Given the description of an element on the screen output the (x, y) to click on. 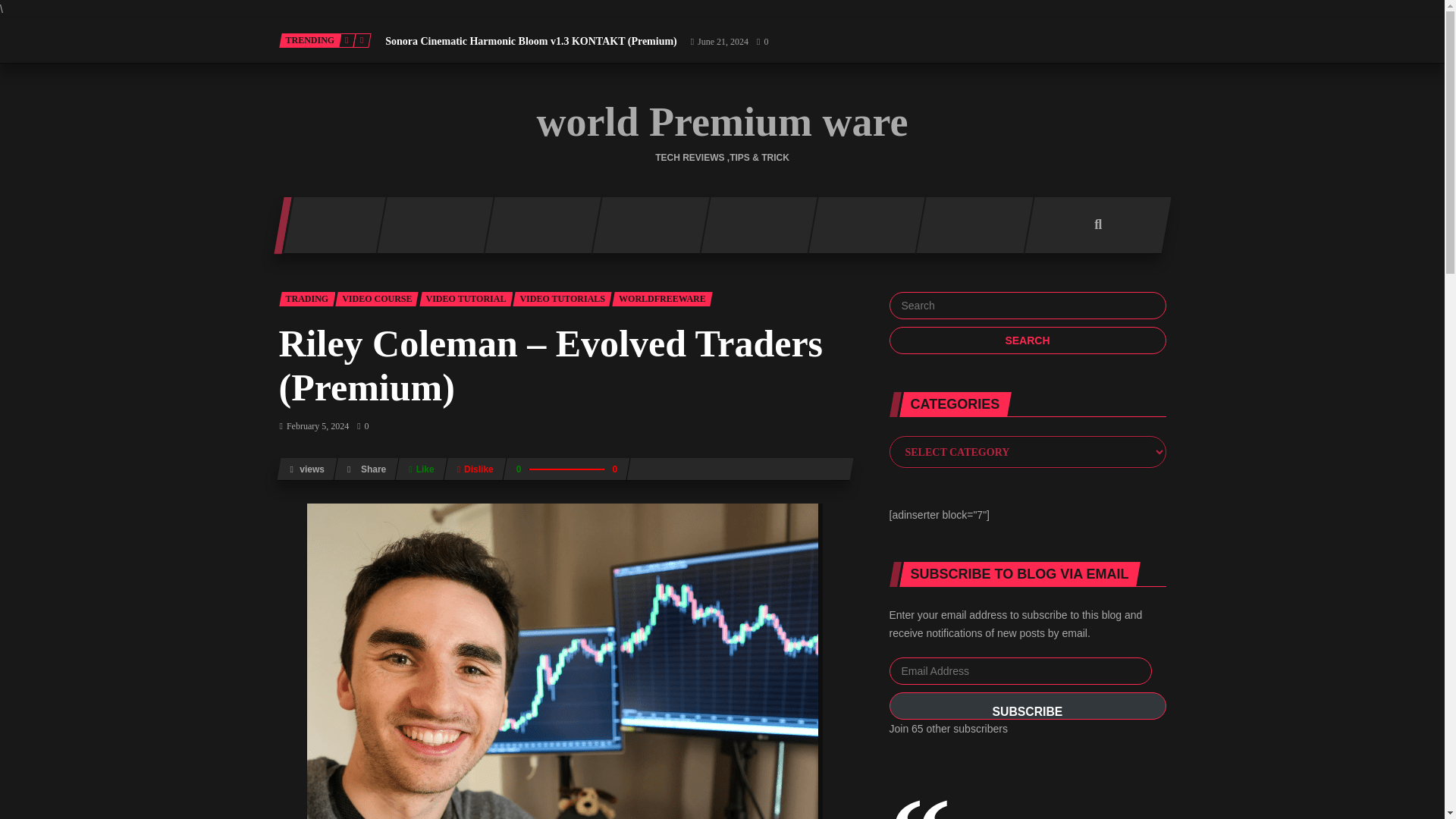
Search (1027, 339)
world Premium ware (722, 121)
Video Course (376, 298)
Trading (307, 298)
TRADING (307, 298)
June 21, 2024 (719, 41)
0 (761, 41)
0 (362, 425)
VIDEO COURSE (376, 298)
VIDEO TUTORIALS (561, 298)
February 5, 2024 (314, 425)
Video Tutorials (561, 298)
TRENDING (310, 40)
video tutorial (466, 298)
WORLDFREEWARE (662, 298)
